Given the description of an element on the screen output the (x, y) to click on. 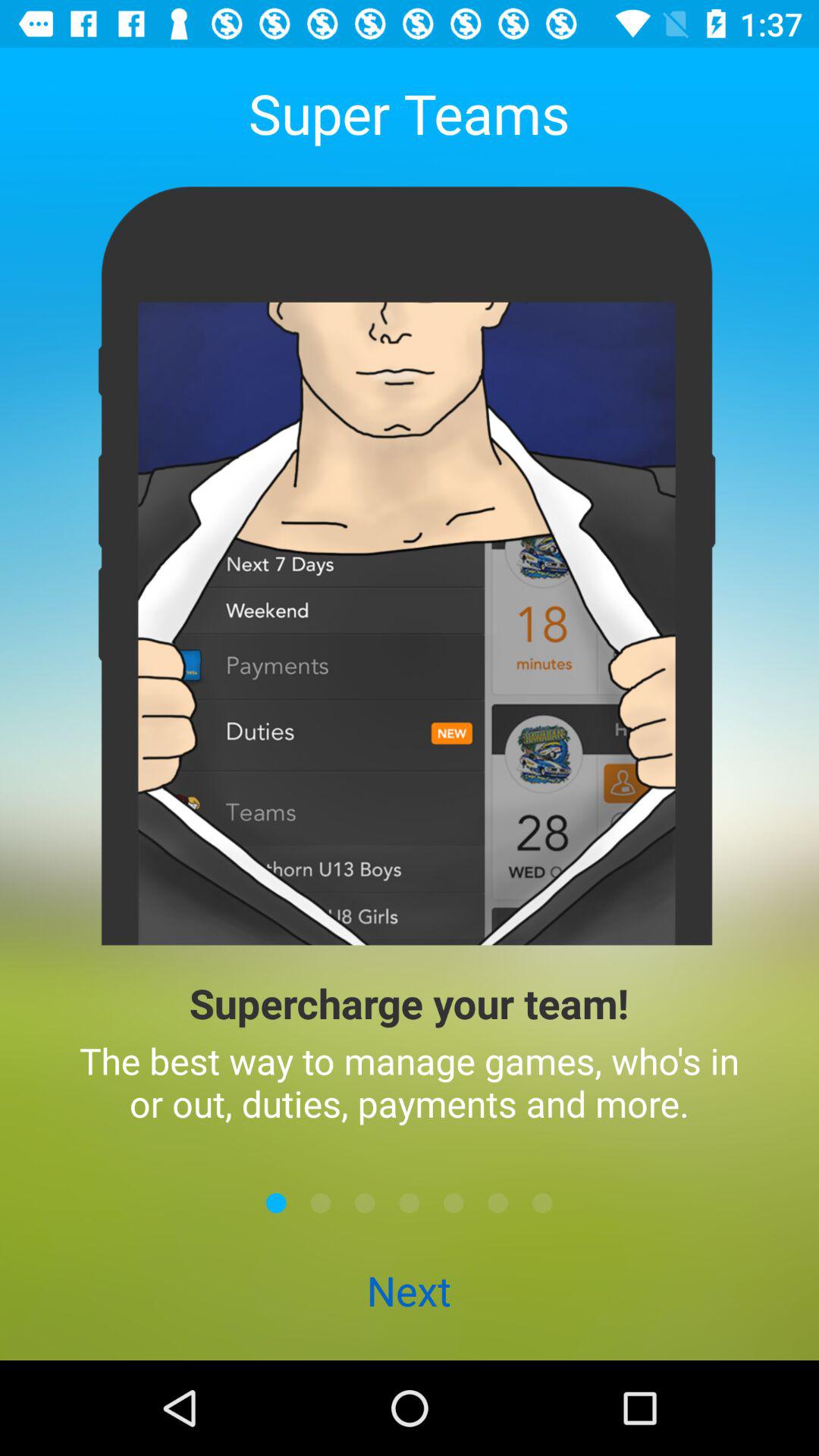
move to the middle screen (409, 1203)
